Given the description of an element on the screen output the (x, y) to click on. 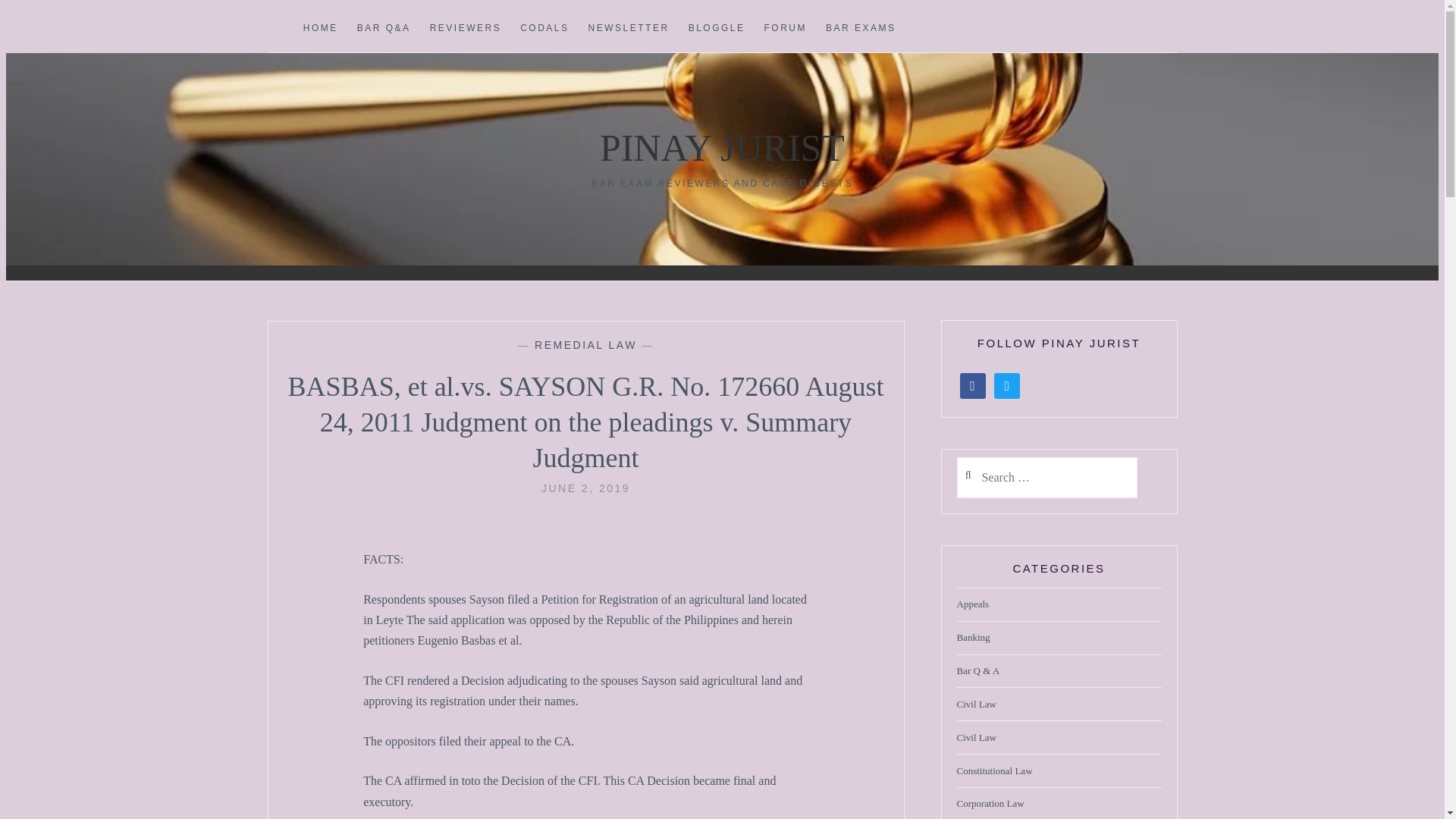
Search (42, 19)
BLOGGLE (716, 28)
Twitter (1007, 385)
HOME (319, 28)
REMEDIAL LAW (585, 345)
Constitutional Law (994, 771)
Appeals (973, 604)
CODALS (544, 28)
NEWSLETTER (628, 28)
Corporation Law (990, 803)
Civil Law (975, 738)
REVIEWERS (465, 28)
Facebook (972, 385)
FORUM (786, 28)
PINAY JURIST (721, 147)
